Given the description of an element on the screen output the (x, y) to click on. 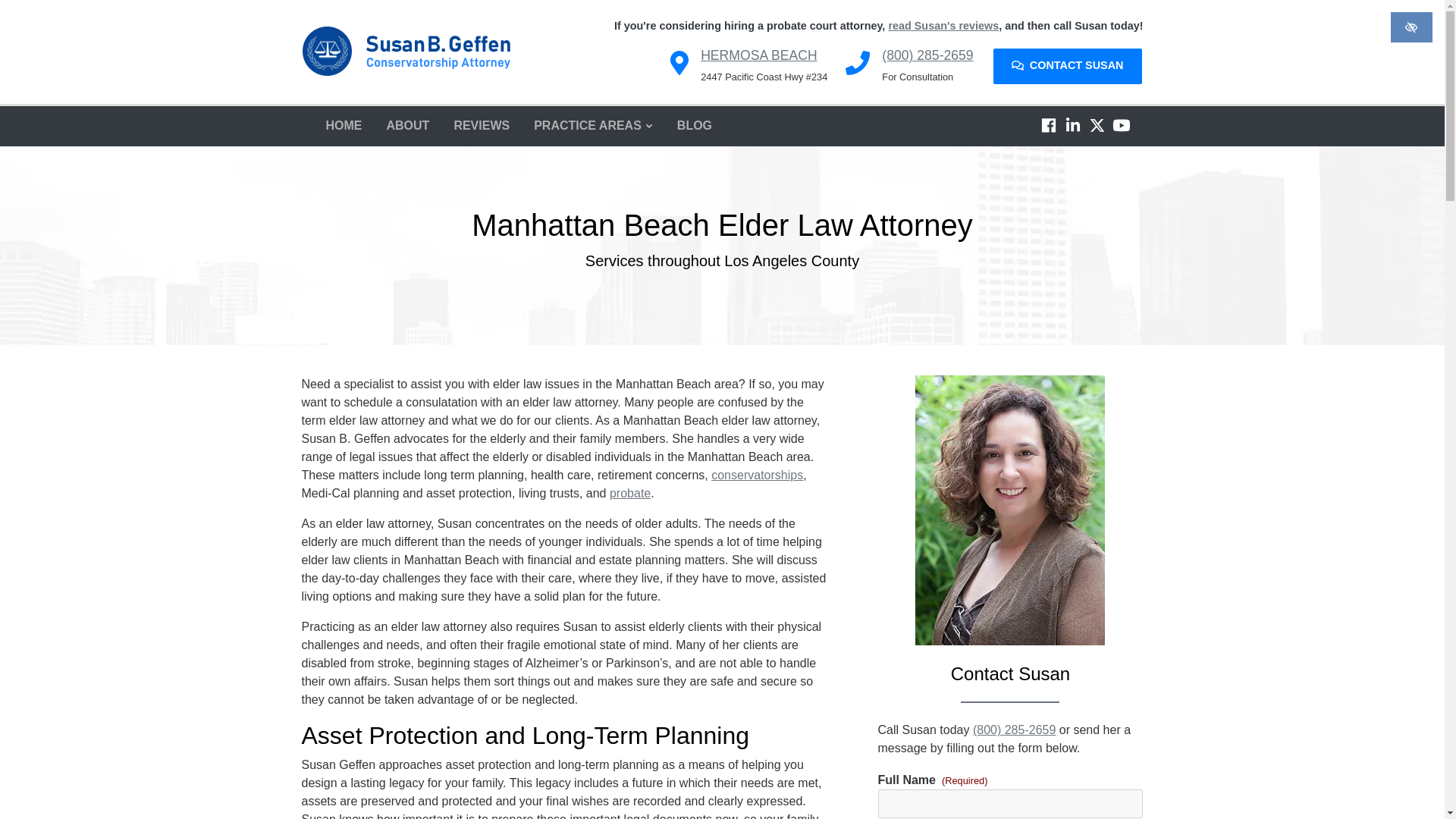
BLOG (694, 126)
PRACTICE AREAS (593, 126)
probate (630, 492)
HERMOSA BEACH (758, 55)
HOME (344, 126)
CONTACT SUSAN (1066, 65)
REVIEWS (481, 126)
conservatorships (757, 474)
SKIP TO MAIN CONTENT (19, 11)
ABOUT (408, 126)
read Susan's reviews (943, 25)
